Given the description of an element on the screen output the (x, y) to click on. 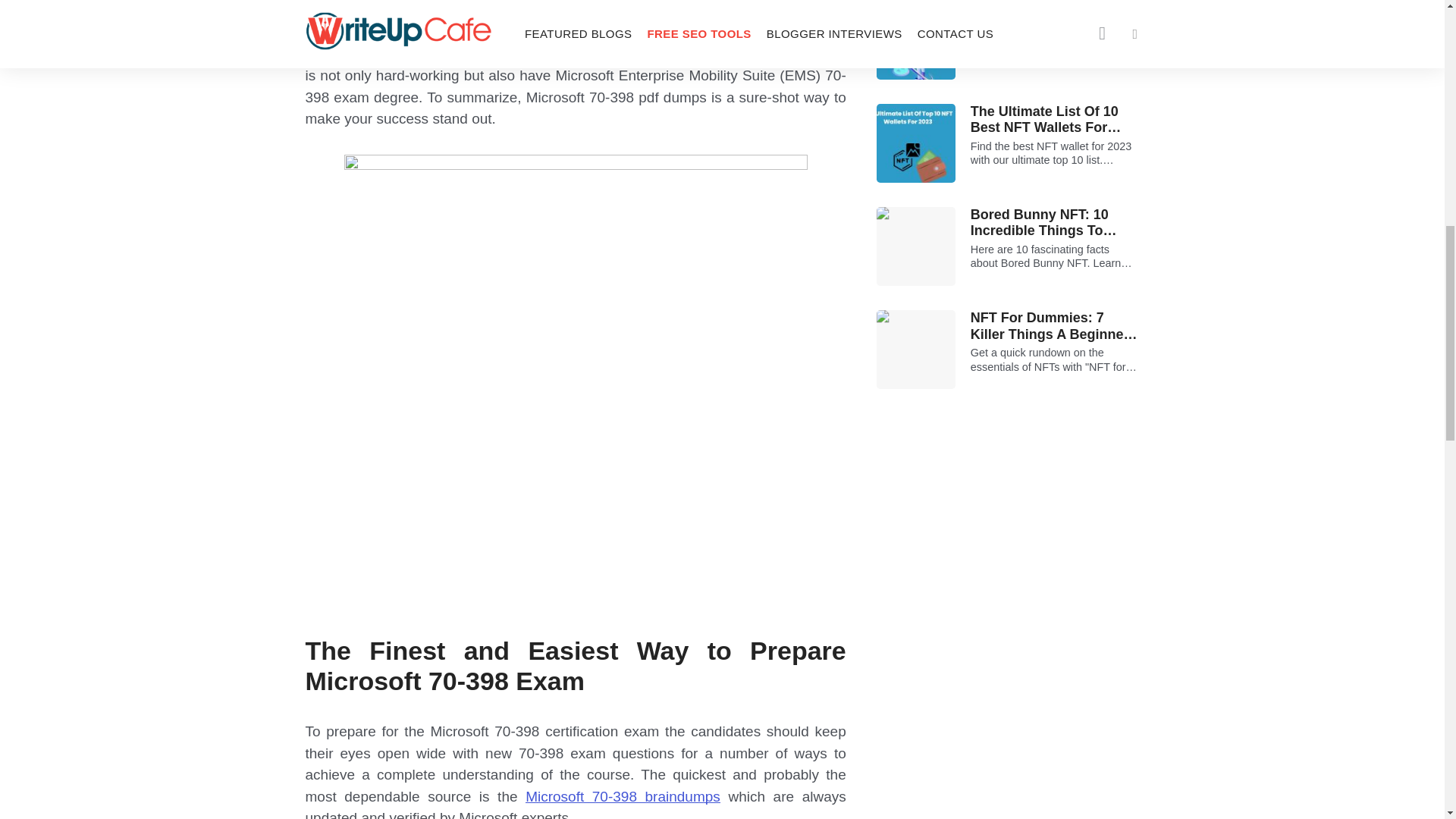
The Ultimate List Of 10 Best NFT Wallets For 2023 (1055, 120)
Microsoft 70-398 braindumps (622, 796)
